Given the description of an element on the screen output the (x, y) to click on. 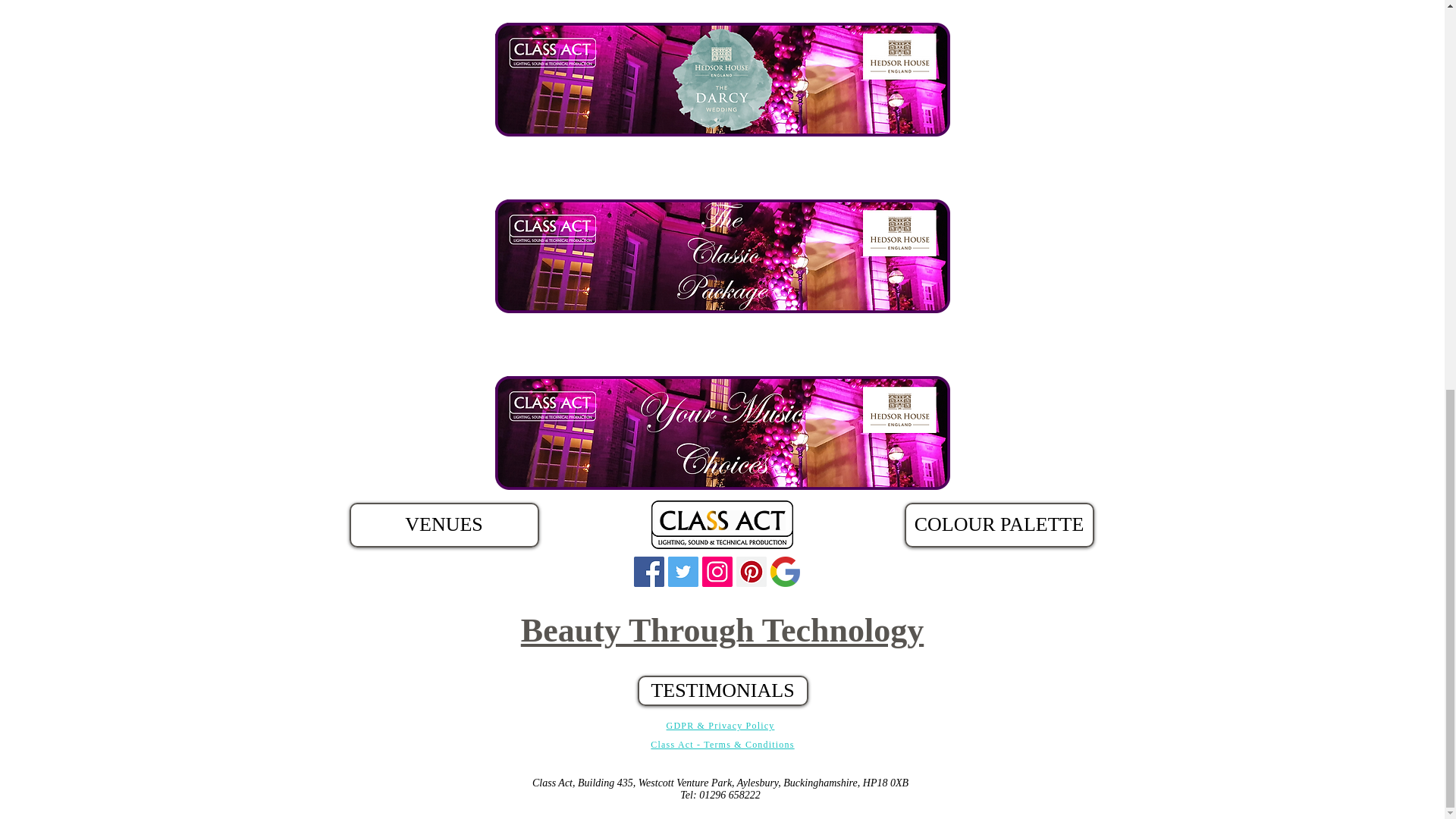
VENUES (443, 524)
COLOUR PALETTE (998, 524)
TESTIMONIALS (722, 690)
Beauty Through Technology (722, 629)
